Given the description of an element on the screen output the (x, y) to click on. 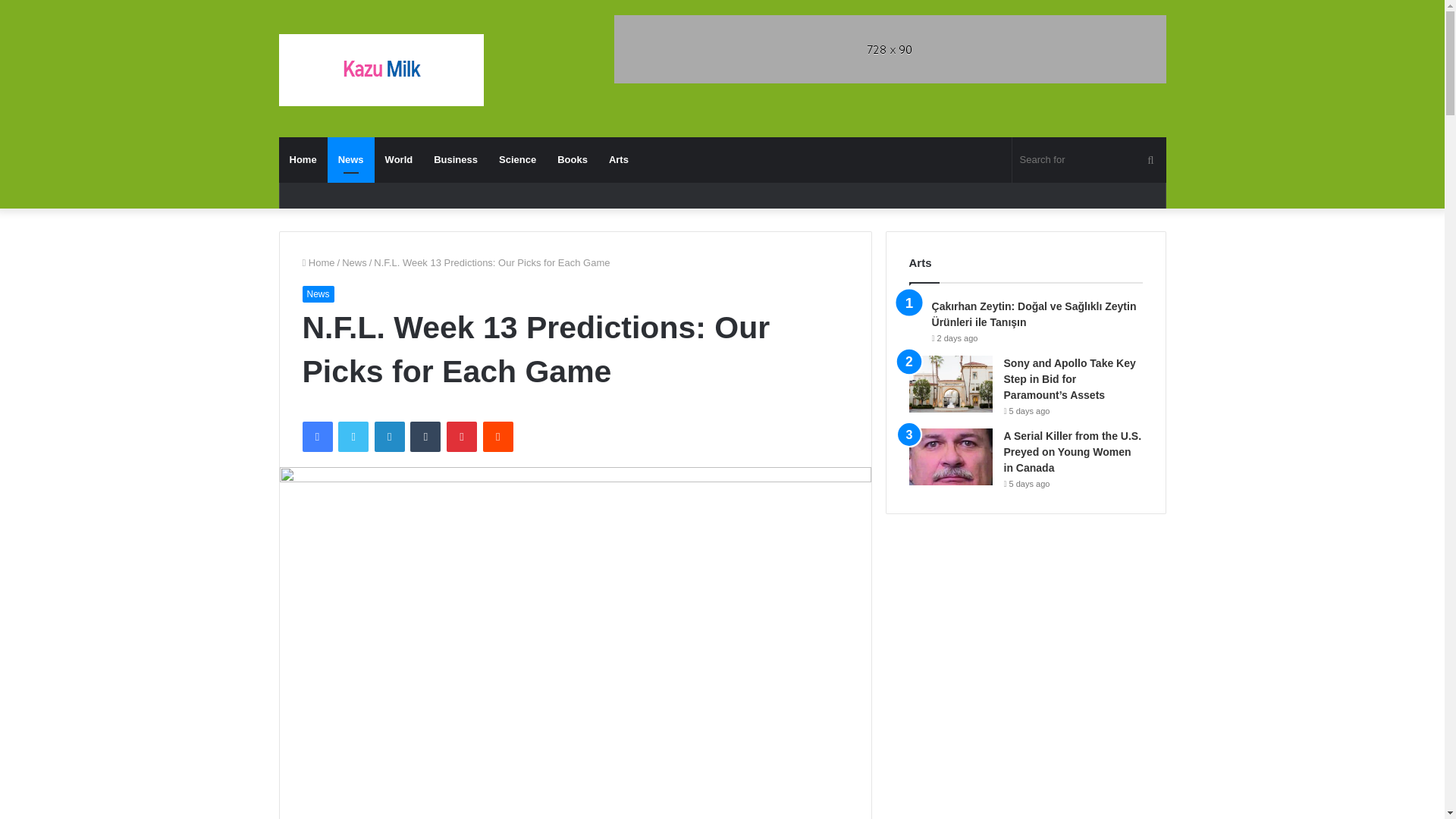
Home (303, 159)
World (398, 159)
Search for (1088, 159)
News (350, 159)
Facebook (316, 436)
Books (572, 159)
Arts (618, 159)
LinkedIn (389, 436)
Kazumilk (381, 70)
News (317, 293)
